Given the description of an element on the screen output the (x, y) to click on. 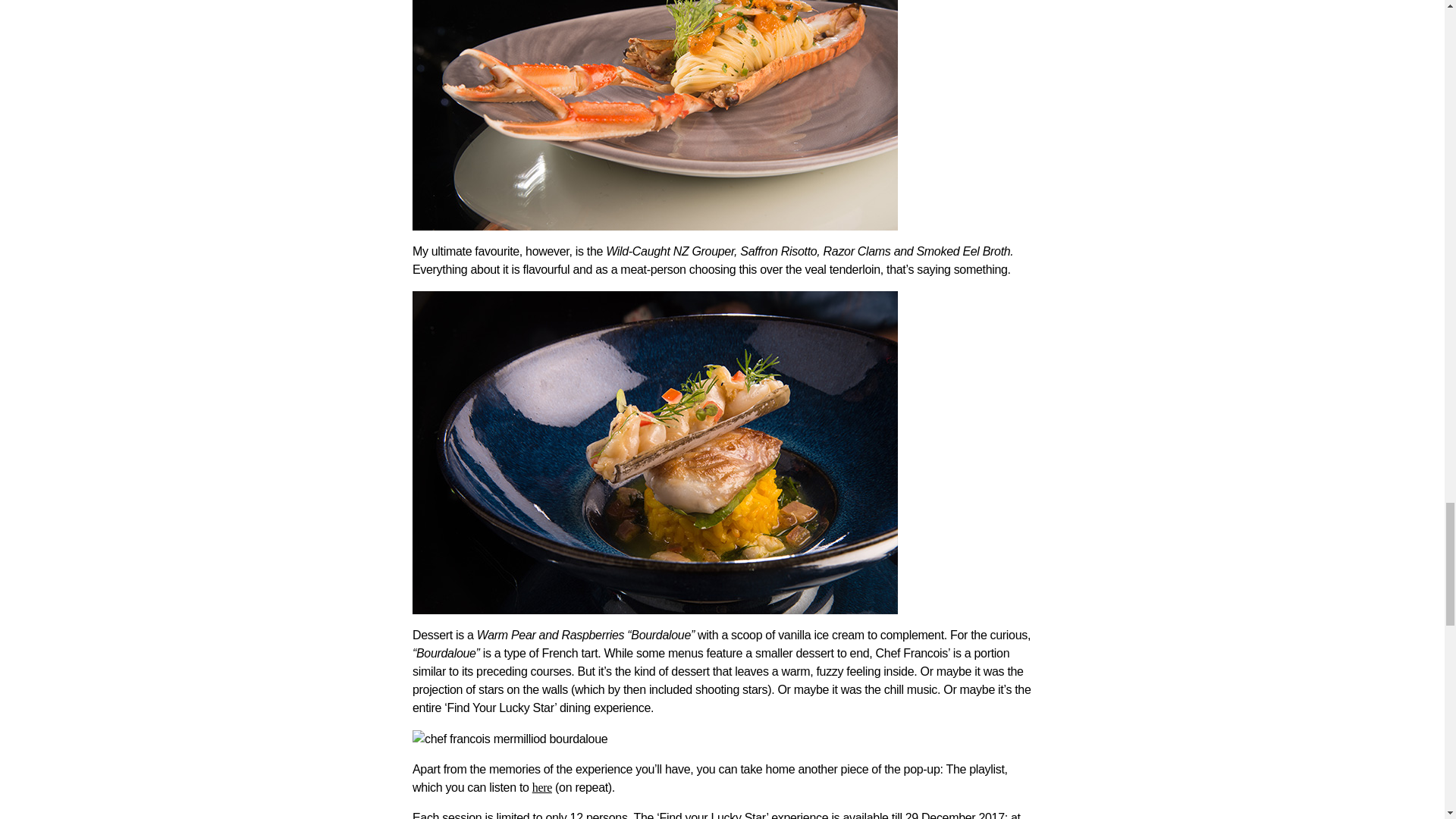
Seared Scampi, Angel Hair (655, 115)
